Given the description of an element on the screen output the (x, y) to click on. 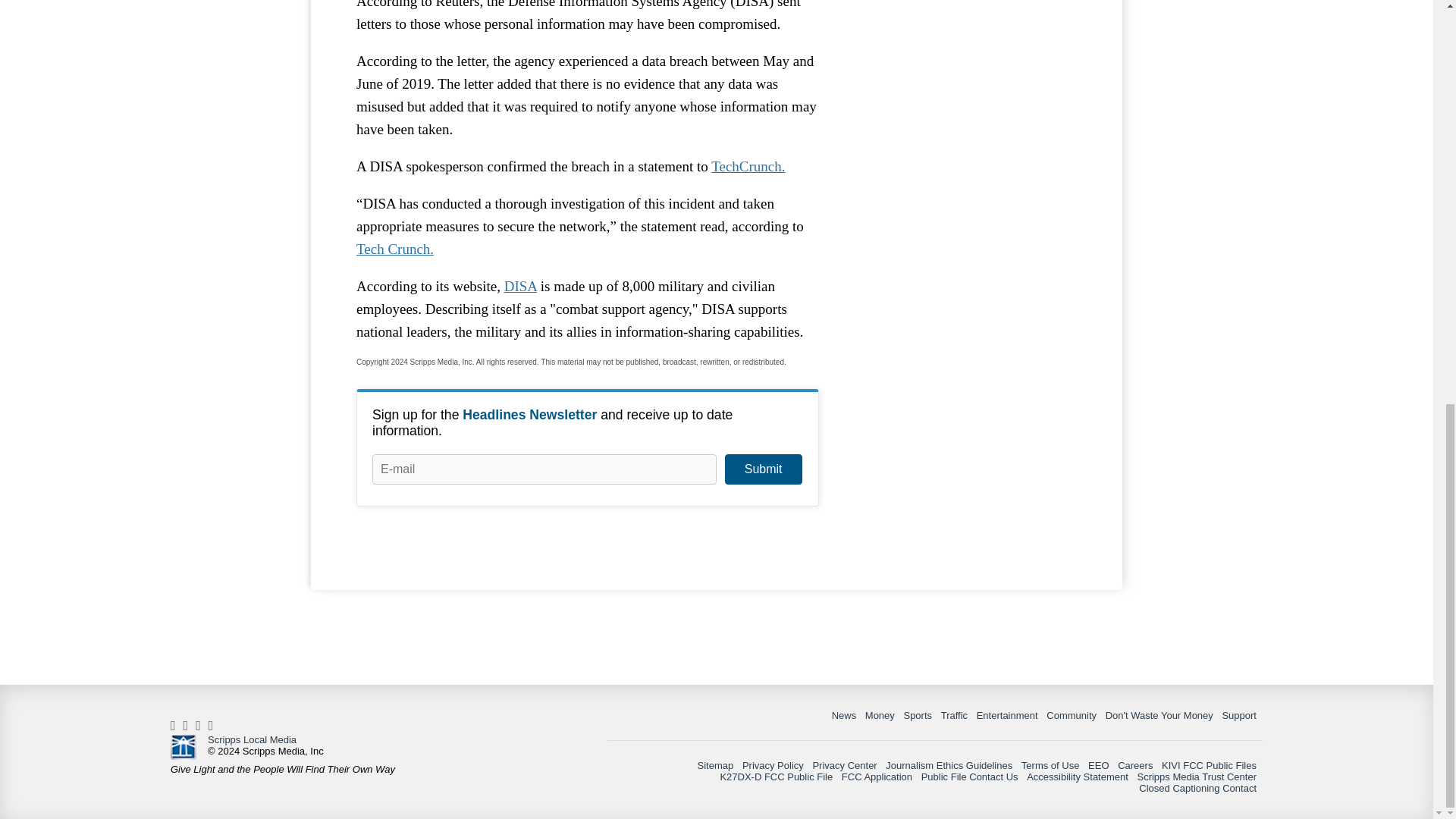
Submit (763, 469)
